Given the description of an element on the screen output the (x, y) to click on. 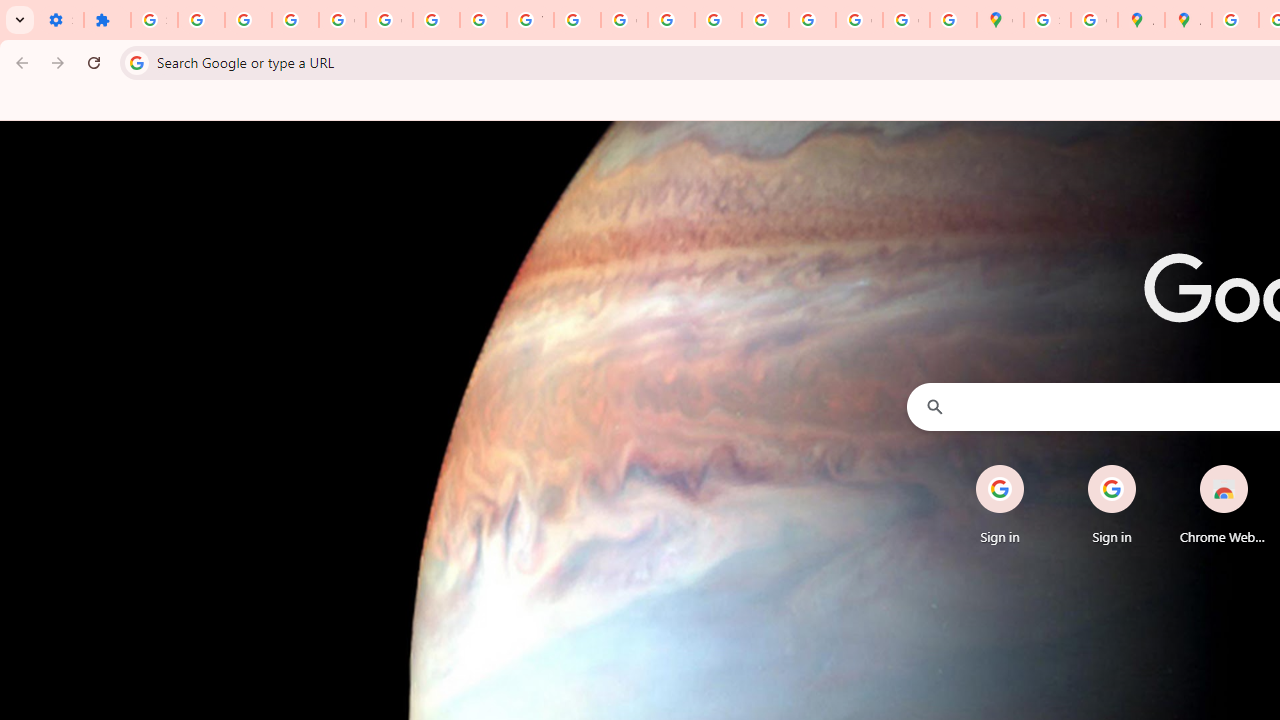
Remove (1263, 466)
Create your Google Account (1094, 20)
https://scholar.google.com/ (577, 20)
Extensions (107, 20)
